Given the description of an element on the screen output the (x, y) to click on. 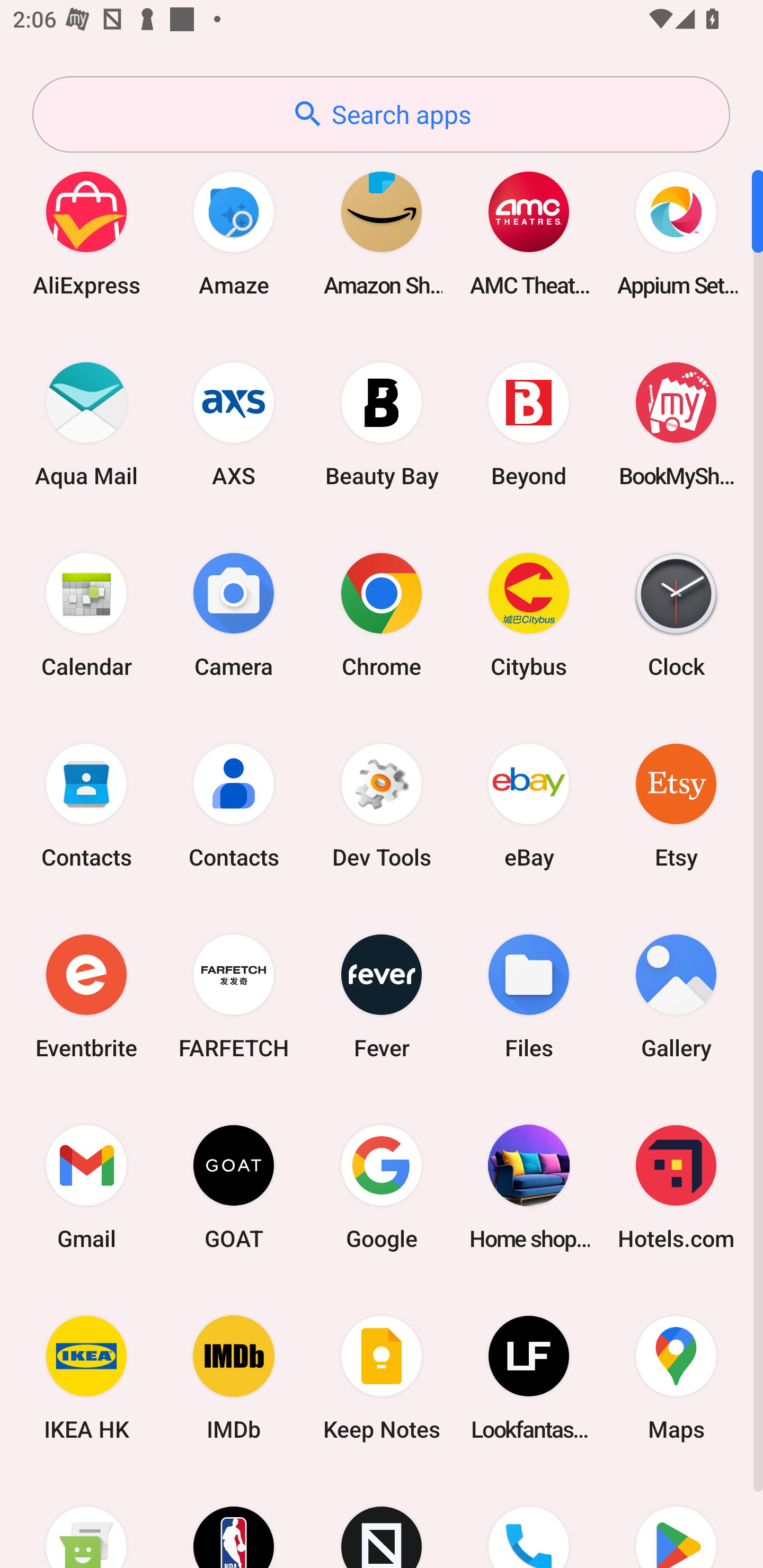
  Search apps (381, 114)
AliExpress (86, 233)
Amaze (233, 233)
Amazon Shopping (381, 233)
AMC Theatres (528, 233)
Appium Settings (676, 233)
Aqua Mail (86, 424)
AXS (233, 424)
Beauty Bay (381, 424)
Beyond (528, 424)
BookMyShow (676, 424)
Calendar (86, 614)
Camera (233, 614)
Chrome (381, 614)
Citybus (528, 614)
Clock (676, 614)
Contacts (86, 805)
Contacts (233, 805)
Dev Tools (381, 805)
eBay (528, 805)
Etsy (676, 805)
Eventbrite (86, 996)
FARFETCH (233, 996)
Fever (381, 996)
Files (528, 996)
Gallery (676, 996)
Gmail (86, 1186)
GOAT (233, 1186)
Google (381, 1186)
Home shopping (528, 1186)
Hotels.com (676, 1186)
IKEA HK (86, 1377)
IMDb (233, 1377)
Keep Notes (381, 1377)
Lookfantastic (528, 1377)
Maps (676, 1377)
Messaging (86, 1520)
NBA (233, 1520)
Novelship (381, 1520)
Phone (528, 1520)
Play Store (676, 1520)
